Given the description of an element on the screen output the (x, y) to click on. 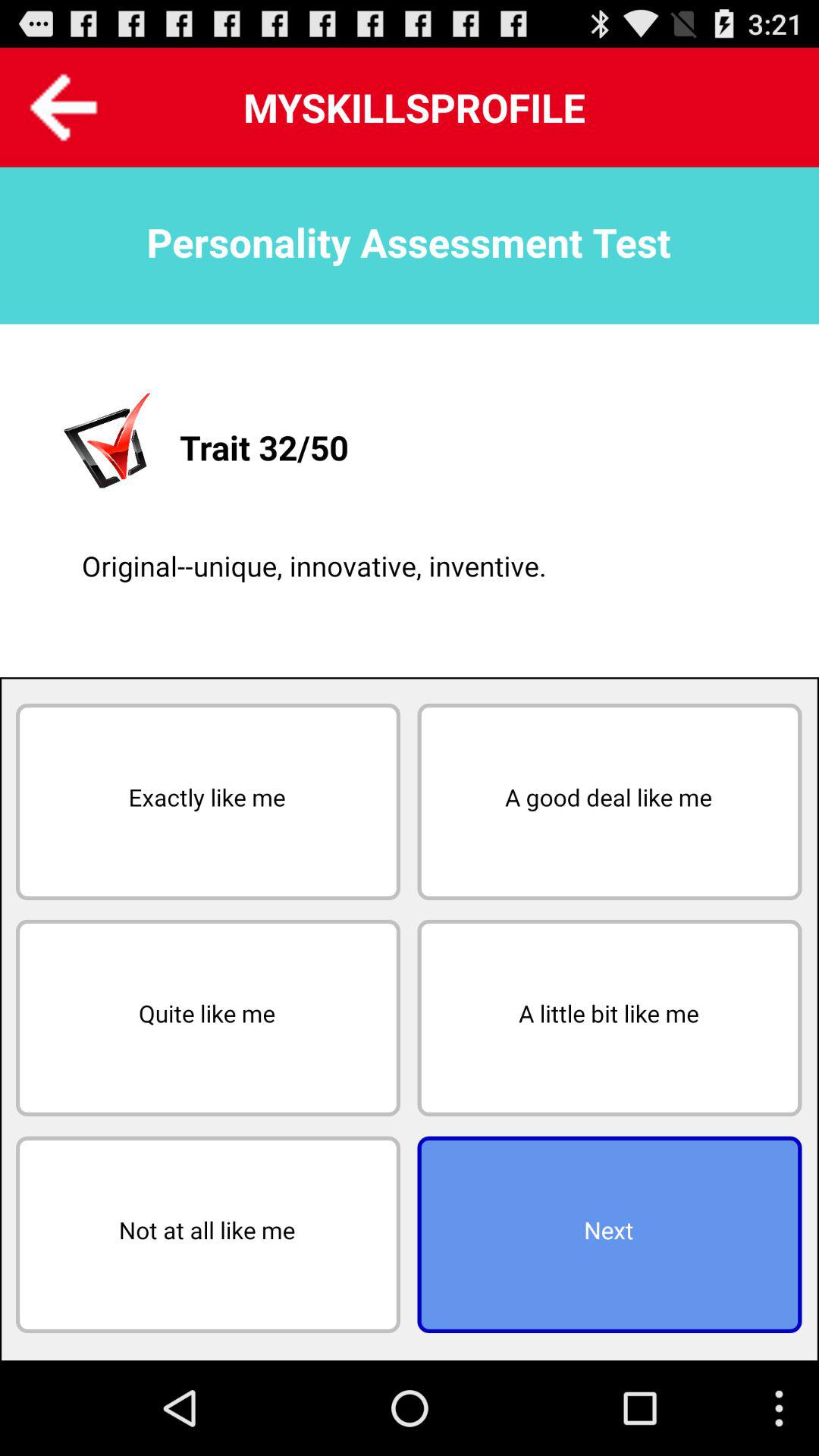
select icon above next icon (609, 1017)
